Given the description of an element on the screen output the (x, y) to click on. 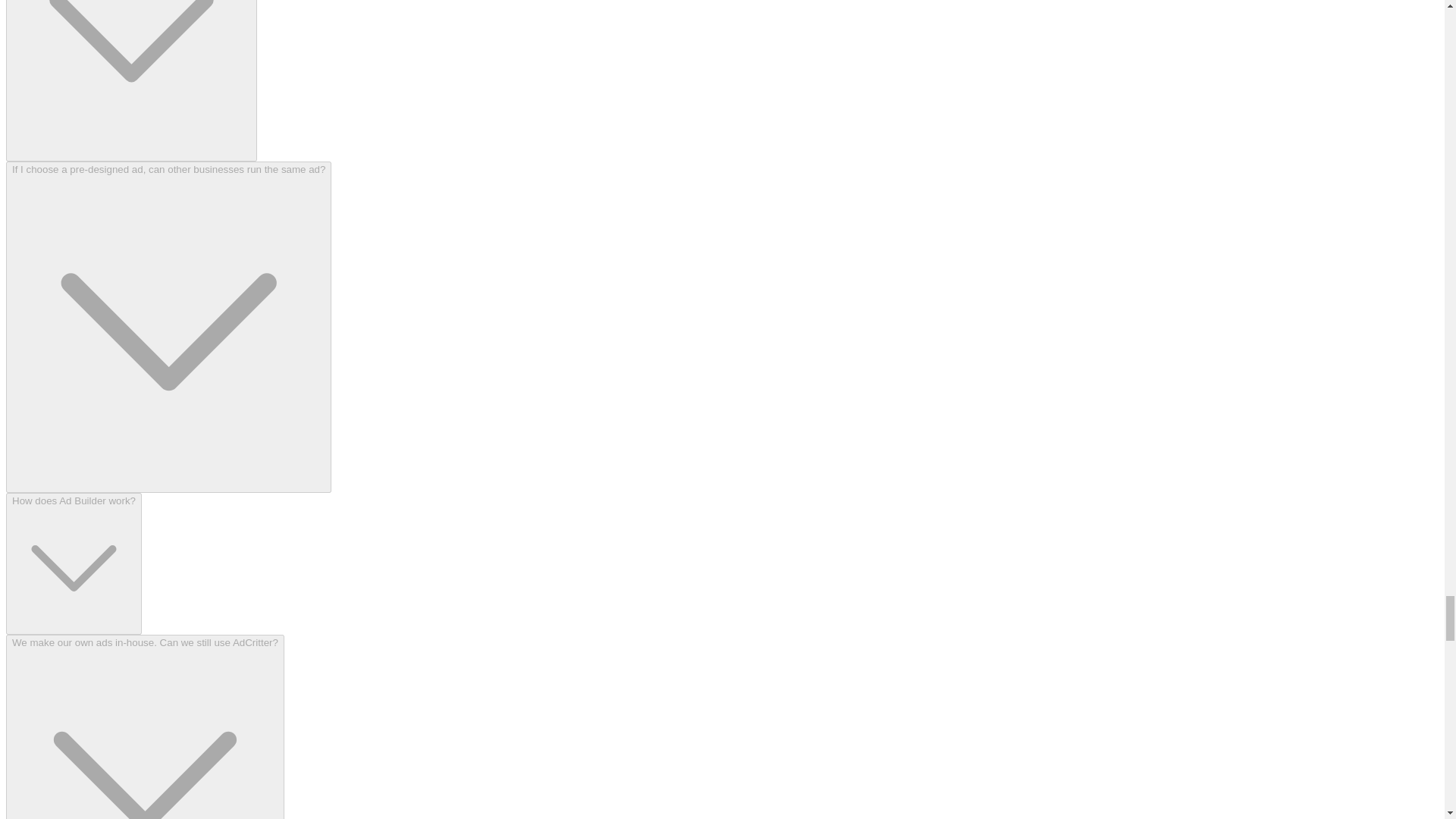
How does Ad Builder work? (73, 563)
We make our own ads in-house. Can we still use AdCritter? (144, 726)
Do you have pre-designed ads for my business type? (131, 80)
